Given the description of an element on the screen output the (x, y) to click on. 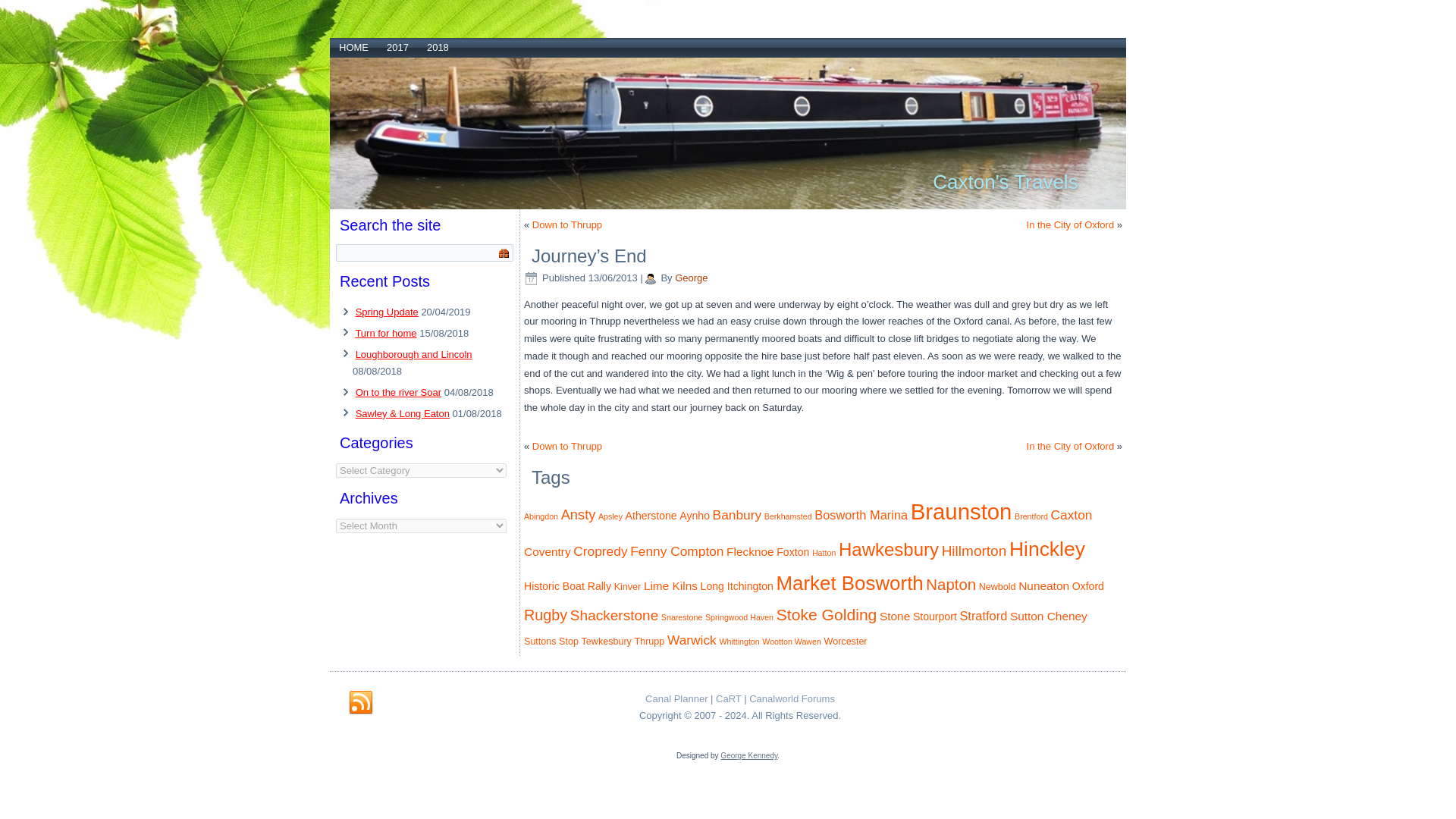
In the City of Oxford (1070, 224)
George (691, 277)
Ansty (577, 514)
Hinckley (1046, 548)
Foxton (792, 551)
Hawkesbury (888, 548)
Down to Thrupp (567, 446)
Atherstone (651, 515)
Brentford (1031, 515)
Apsley (610, 515)
Lime Kilns (670, 585)
Bosworth Marina (860, 514)
Cropredy (600, 550)
On to the river Soar (398, 392)
Long Itchington (736, 585)
